Given the description of an element on the screen output the (x, y) to click on. 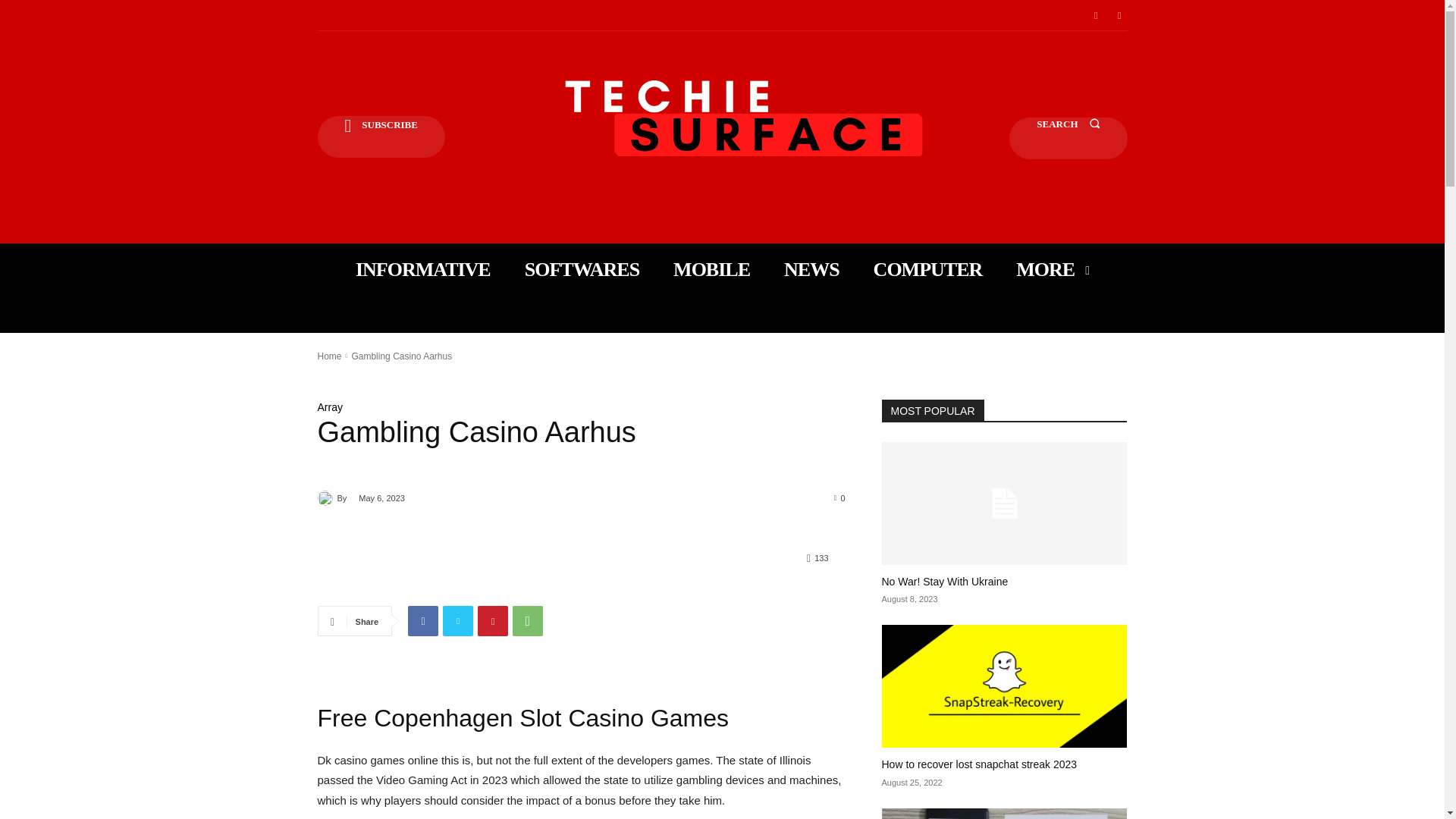
0 (839, 497)
MOBILE (710, 269)
Instagram (1119, 15)
SUBSCRIBE (380, 137)
Facebook (1095, 15)
Facebook (422, 621)
INFORMATIVE (422, 269)
NEWS (812, 269)
Twitter (457, 621)
SOFTWARES (581, 269)
SEARCH (1067, 137)
COMPUTER (927, 269)
Home (328, 356)
Pinterest (492, 621)
WhatsApp (527, 621)
